Given the description of an element on the screen output the (x, y) to click on. 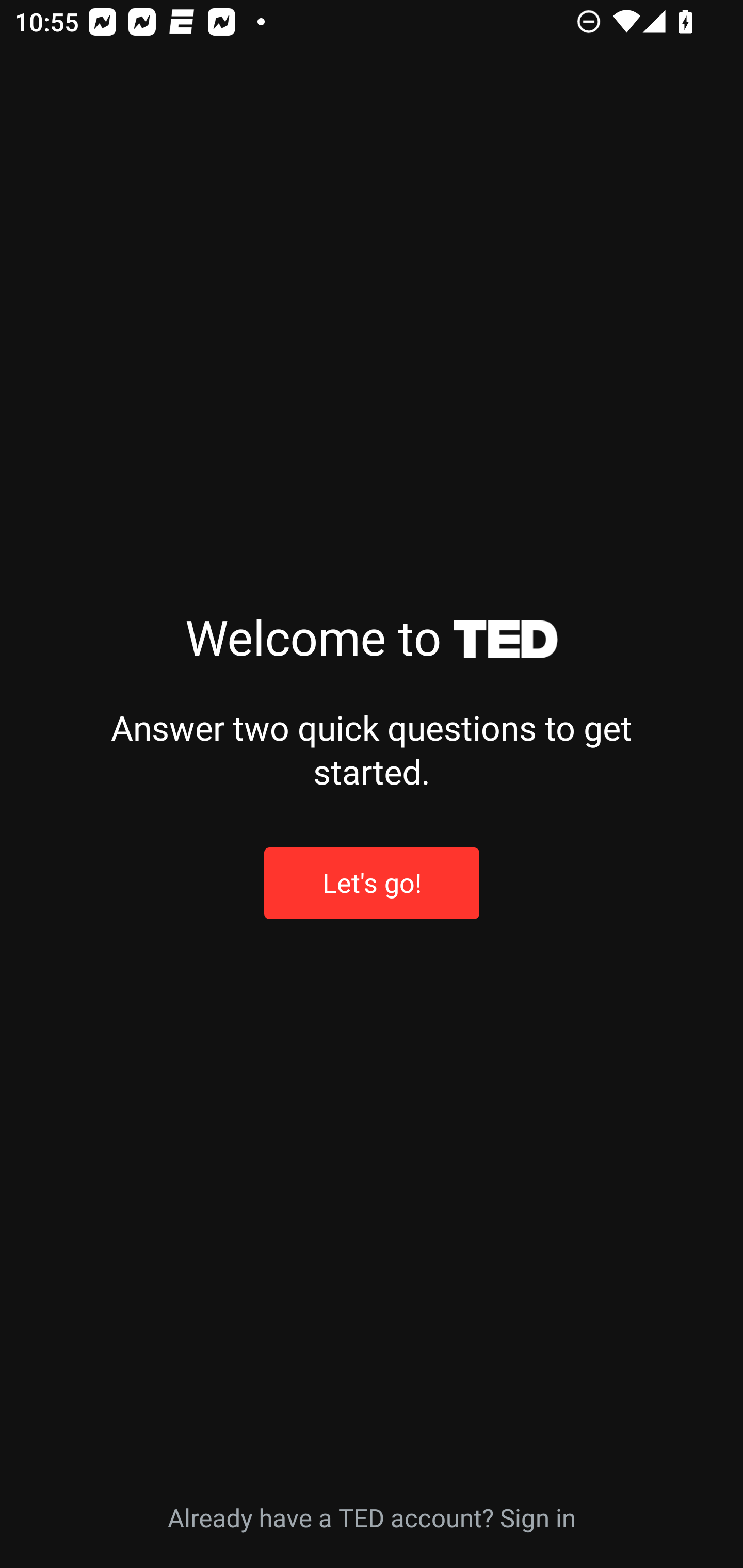
Already have a TED account? Sign in (371, 1516)
